Given the description of an element on the screen output the (x, y) to click on. 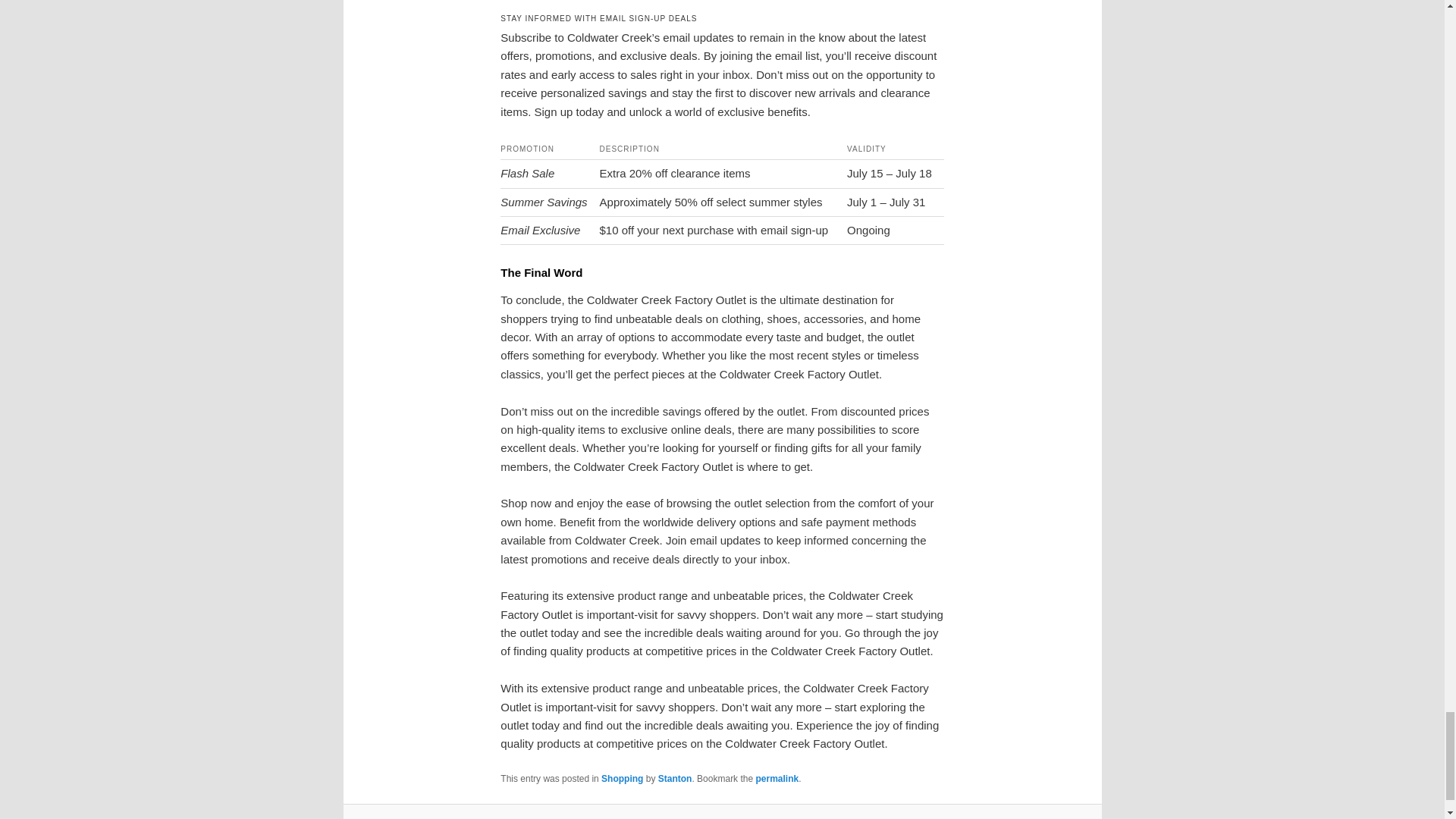
Stanton (675, 778)
permalink (776, 778)
Shopping (622, 778)
